Given the description of an element on the screen output the (x, y) to click on. 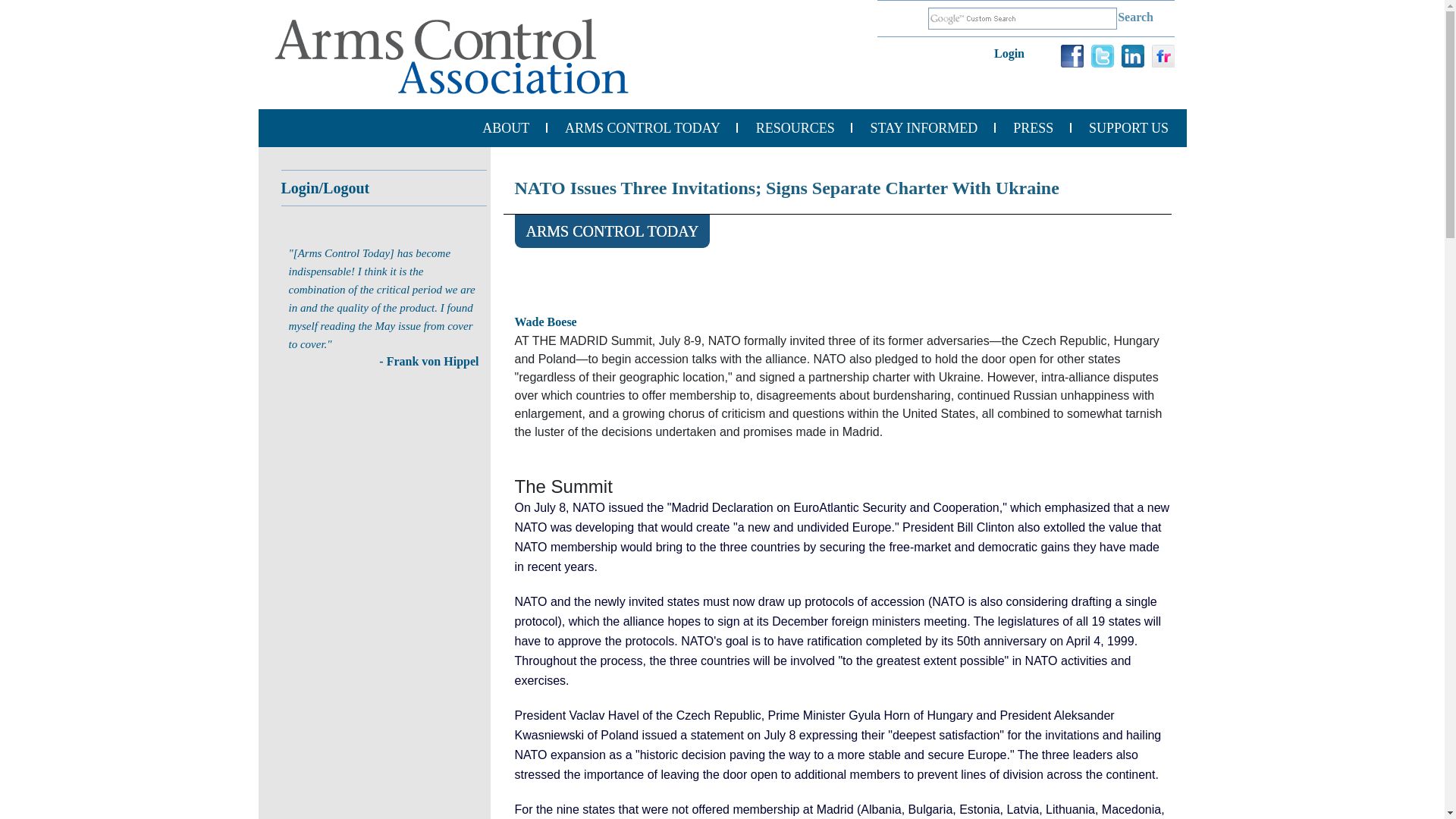
ARMS CONTROL TODAY (642, 127)
ABOUT (505, 127)
Search (1136, 18)
Log in (1015, 56)
RESOURCES (794, 127)
Enter the terms you wish to search for. (1022, 18)
Home (451, 56)
STAY INFORMED (923, 127)
